Given the description of an element on the screen output the (x, y) to click on. 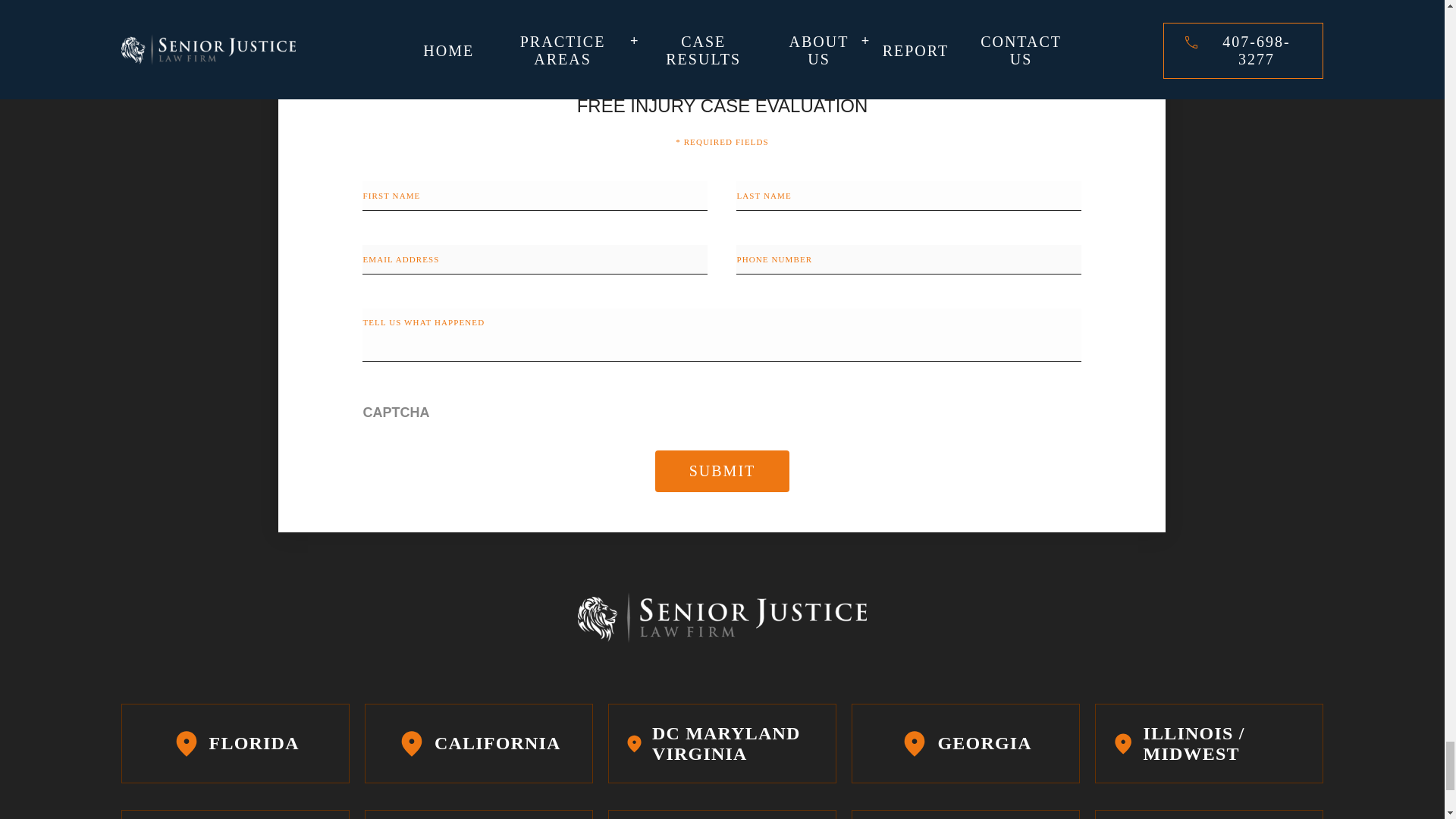
Submit (722, 471)
